Given the description of an element on the screen output the (x, y) to click on. 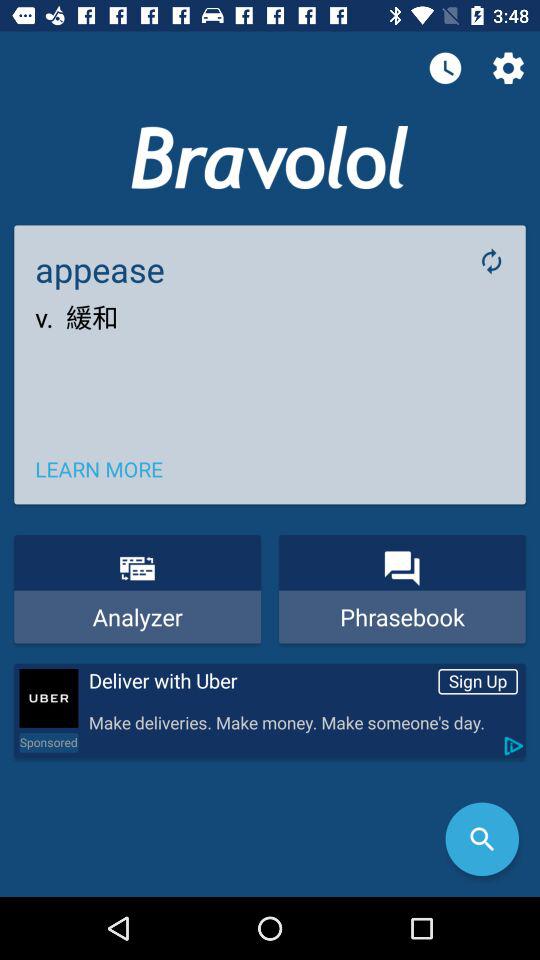
uber signup button (48, 698)
